Given the description of an element on the screen output the (x, y) to click on. 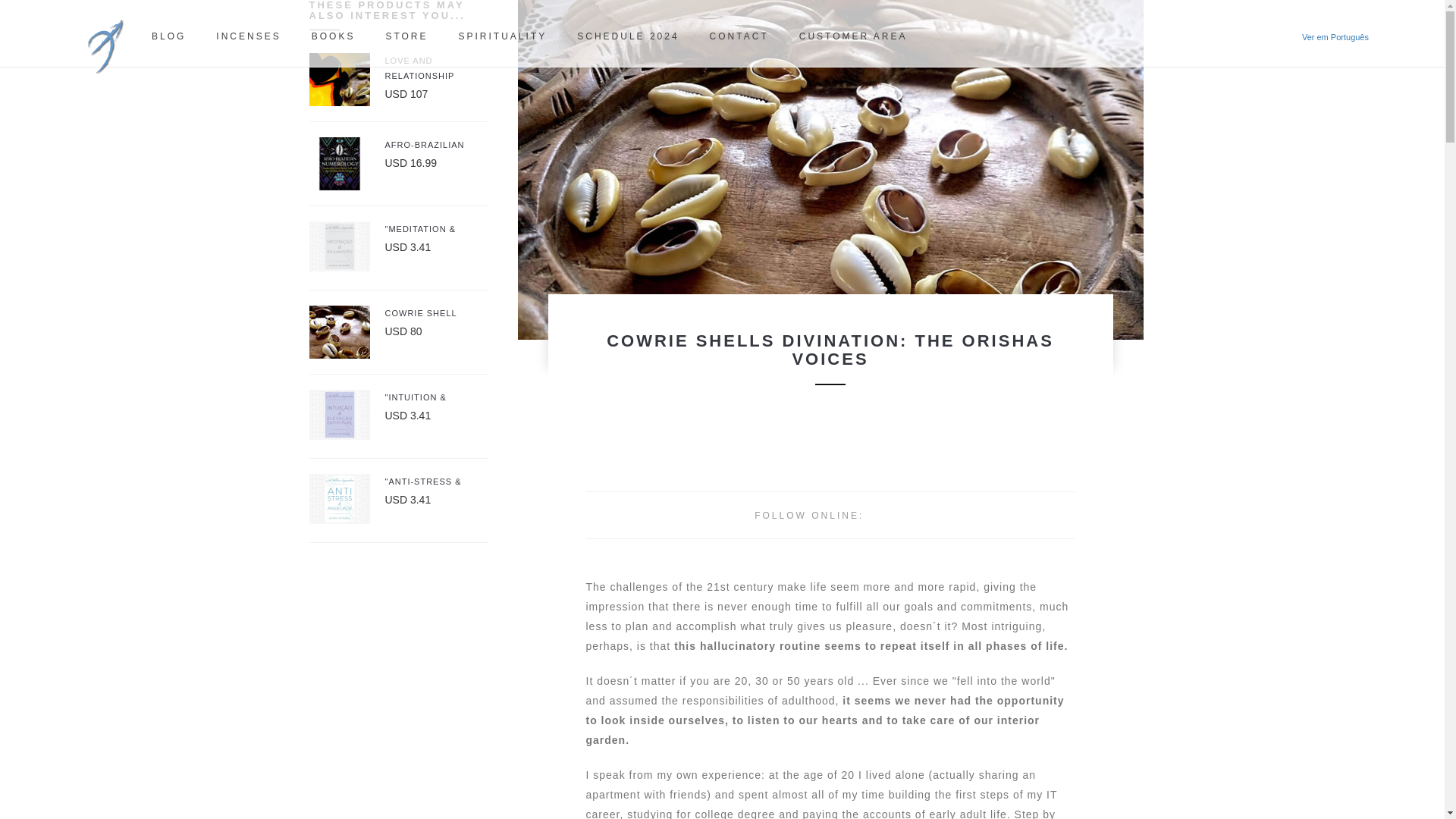
CUSTOMER AREA (853, 36)
Love and Relationship Odus Assessment (436, 68)
Incensos As Folhas Sagradas (248, 36)
INCENSES (248, 36)
SPIRITUALITY (502, 36)
COWRIE SHELLS DIVINATION: THE ORISHAS VOICES (829, 358)
AFRO-BRAZILIAN (436, 144)
STORE (406, 36)
Afro-Brazilian Numerology (436, 144)
Afro-Brazilian Numerology (338, 163)
